Given the description of an element on the screen output the (x, y) to click on. 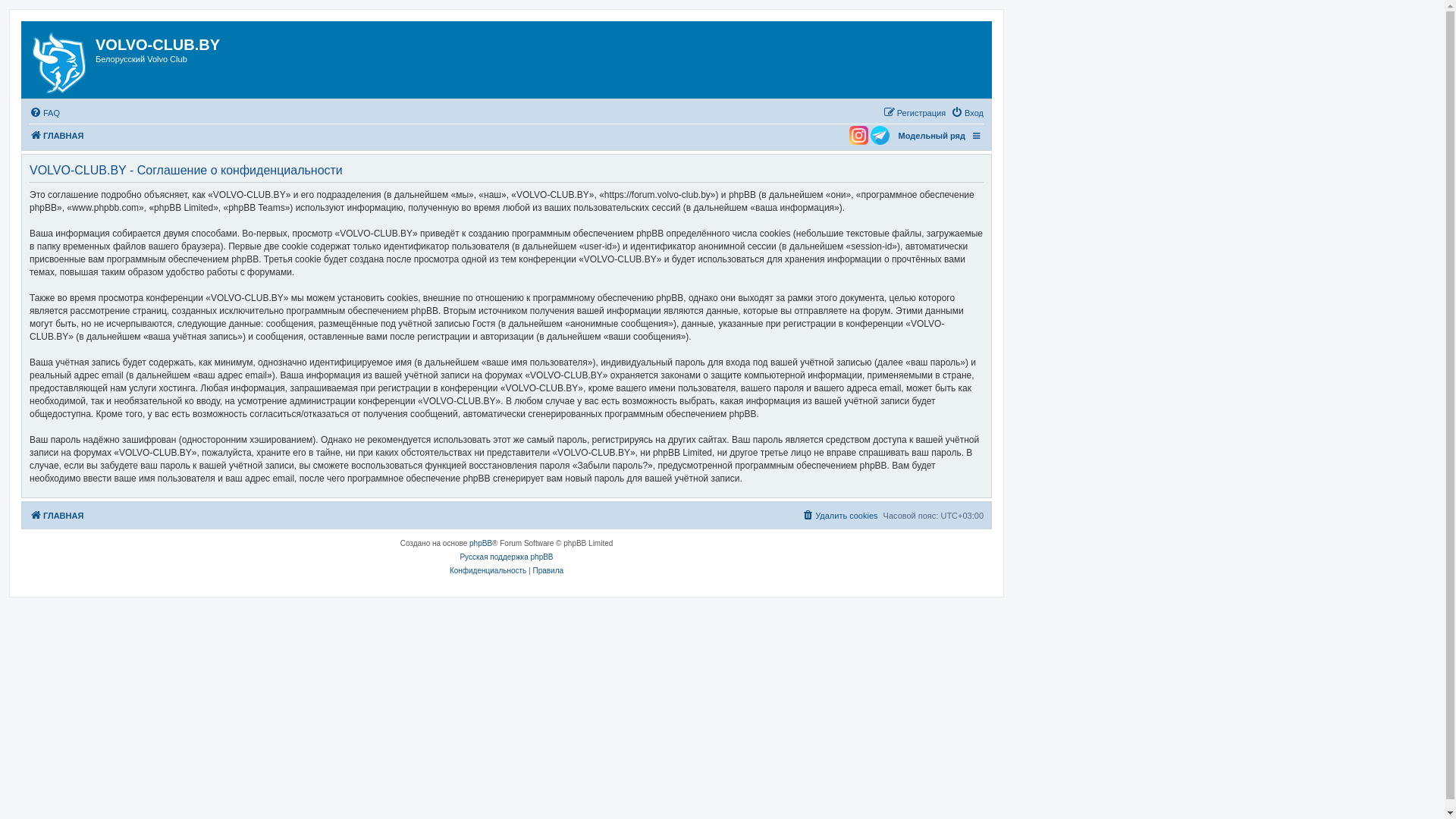
 Instagram Element type: hover (854, 134)
Telegram Element type: hover (879, 134)
FAQ Element type: text (44, 112)
phpBB Element type: text (480, 543)
